Given the description of an element on the screen output the (x, y) to click on. 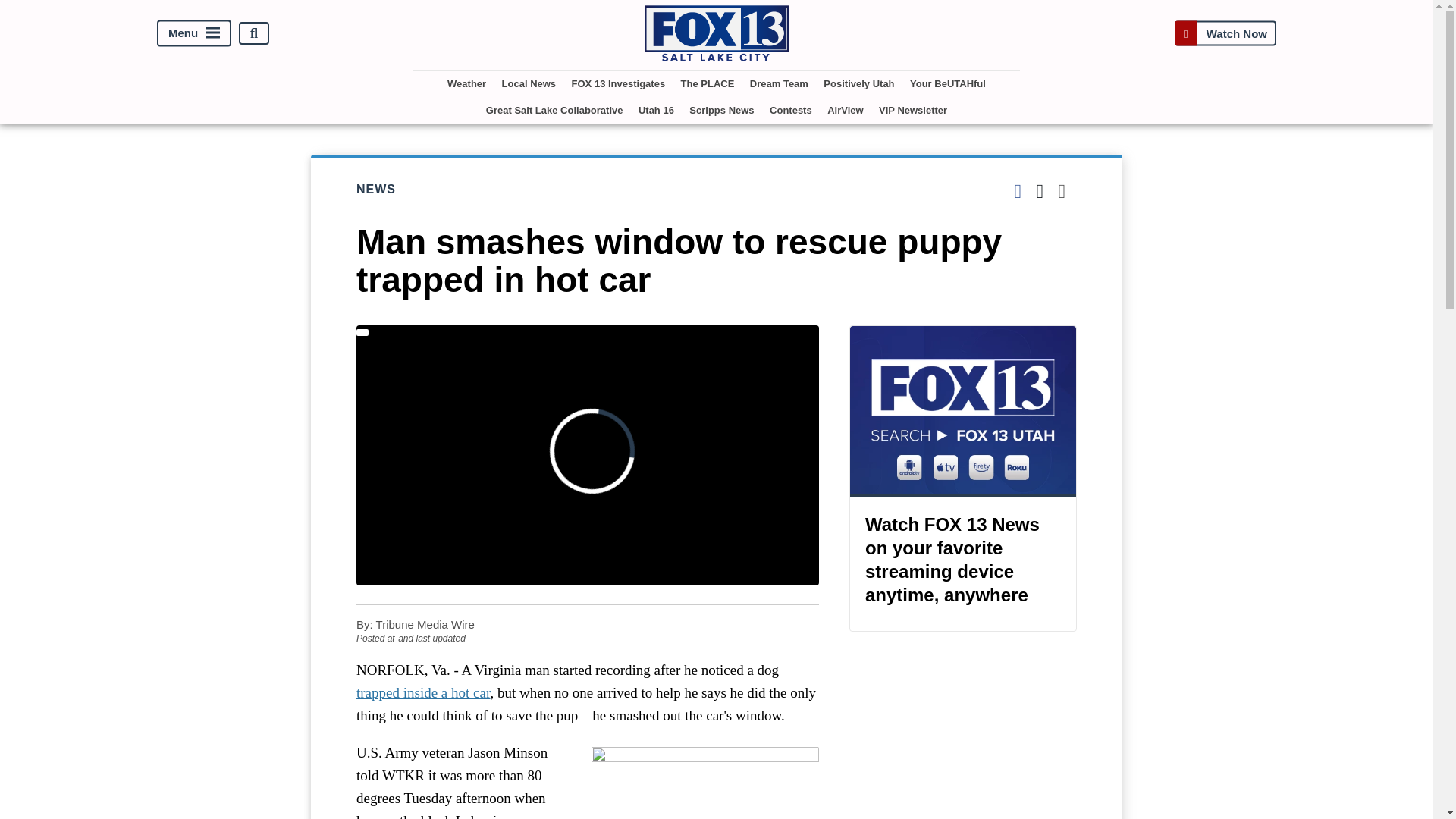
Watch Now (1224, 33)
Menu (194, 33)
